Given the description of an element on the screen output the (x, y) to click on. 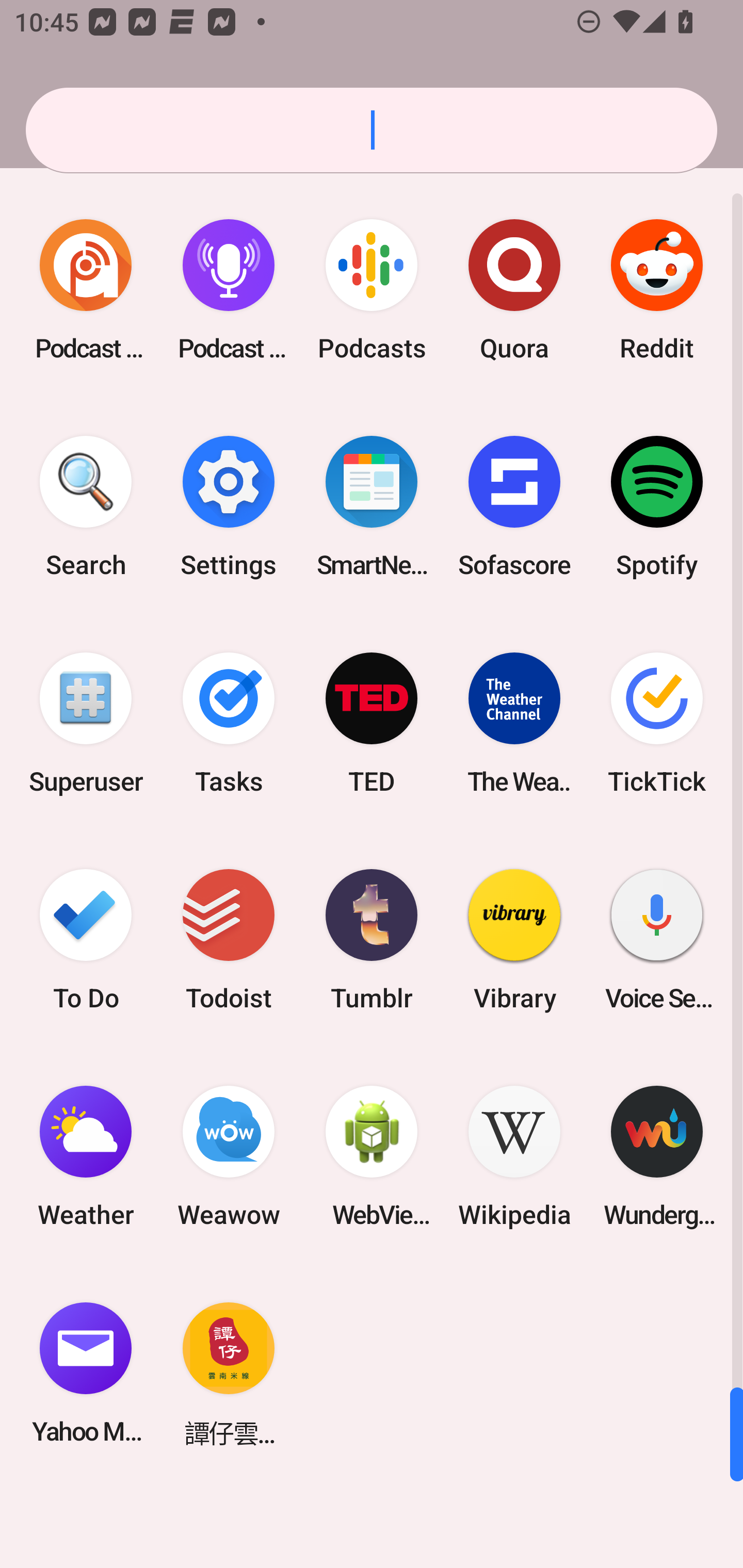
  Search apps (371, 130)
Podcast Addict (85, 289)
Podcast Player (228, 289)
Podcasts (371, 289)
Quora (514, 289)
Reddit (656, 289)
Search (85, 506)
Settings (228, 506)
SmartNews (371, 506)
Sofascore (514, 506)
Spotify (656, 506)
Superuser (85, 722)
Tasks (228, 722)
TED (371, 722)
The Weather Channel (514, 722)
TickTick (656, 722)
To Do (85, 939)
Todoist (228, 939)
Tumblr (371, 939)
Vibrary (514, 939)
Voice Search (656, 939)
Weather (85, 1156)
Weawow (228, 1156)
WebView Browser Tester (371, 1156)
Wikipedia (514, 1156)
Wunderground (656, 1156)
Yahoo Mail (85, 1373)
譚仔雲南米線 (228, 1373)
